Given the description of an element on the screen output the (x, y) to click on. 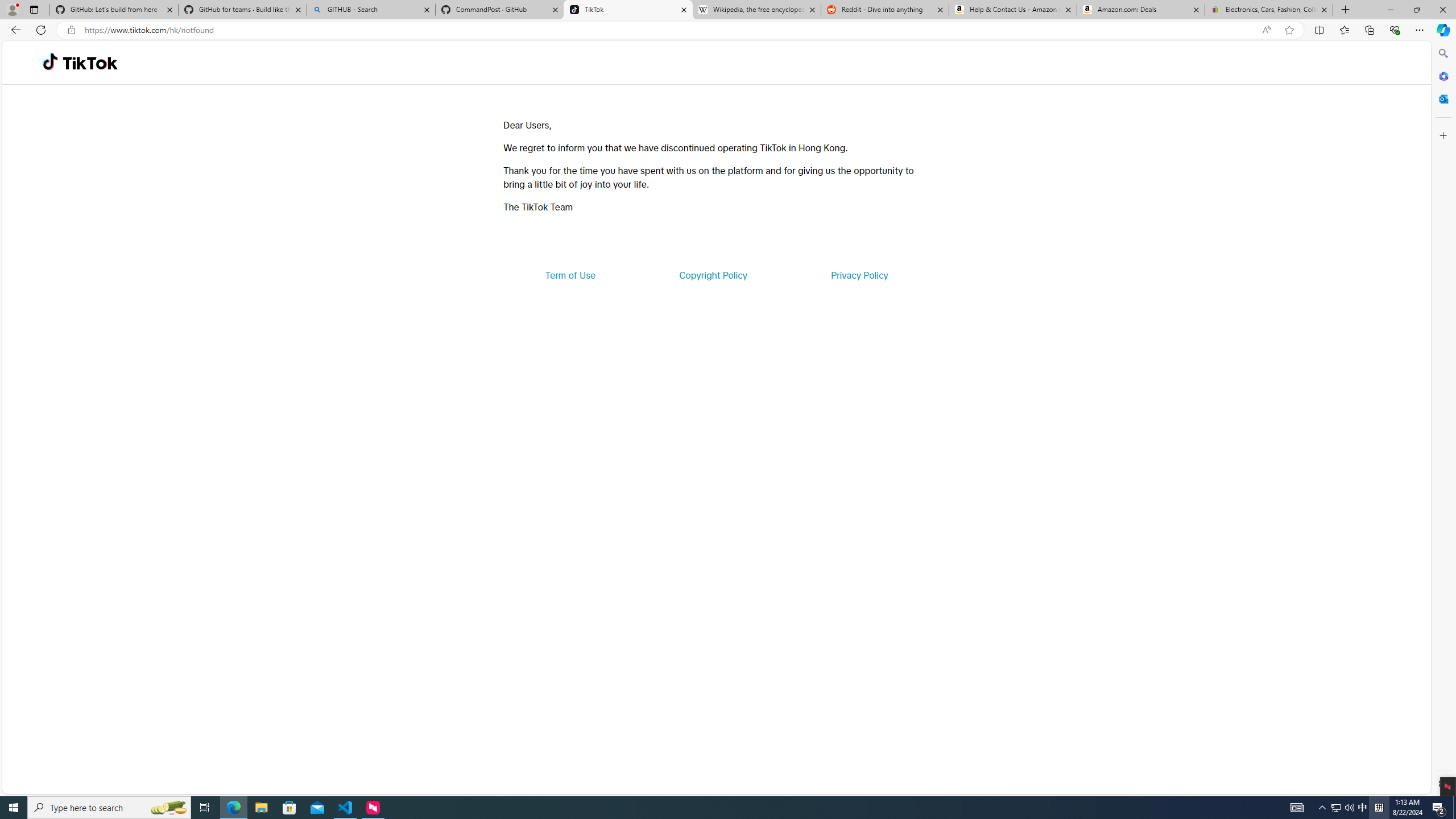
Term of Use (569, 274)
TikTok (628, 9)
GITHUB - Search (370, 9)
TikTok (89, 62)
